Given the description of an element on the screen output the (x, y) to click on. 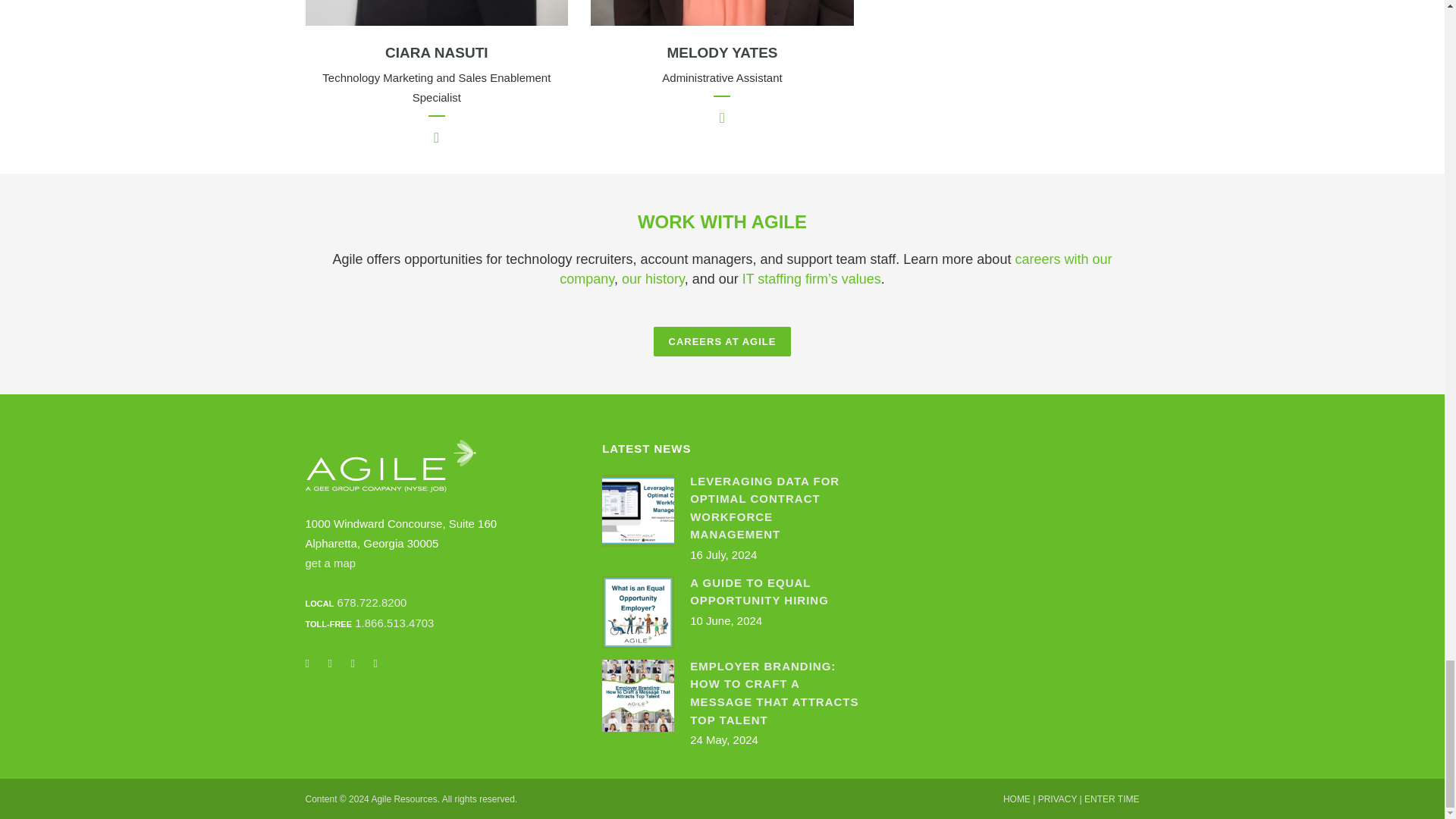
LinkedIn (315, 669)
Facebook (384, 669)
Twitter (338, 669)
